Given the description of an element on the screen output the (x, y) to click on. 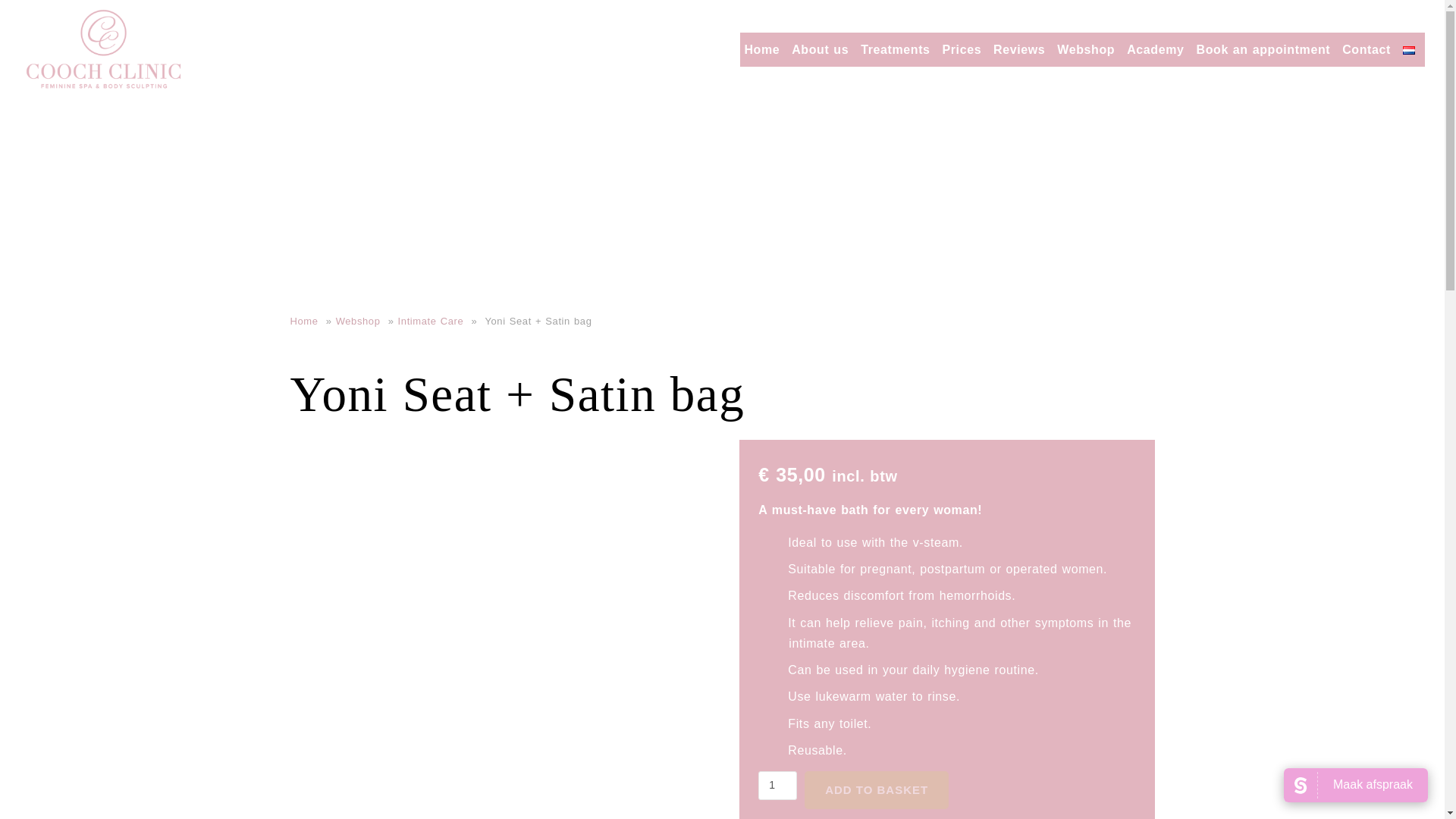
Webshop (1085, 48)
Academy (1155, 48)
Reviews (1019, 48)
Home (305, 320)
ADD TO BASKET (877, 790)
About us (819, 48)
Contact (1366, 48)
Reviews (1019, 48)
Home (761, 48)
Book an appointment (1262, 48)
